Given the description of an element on the screen output the (x, y) to click on. 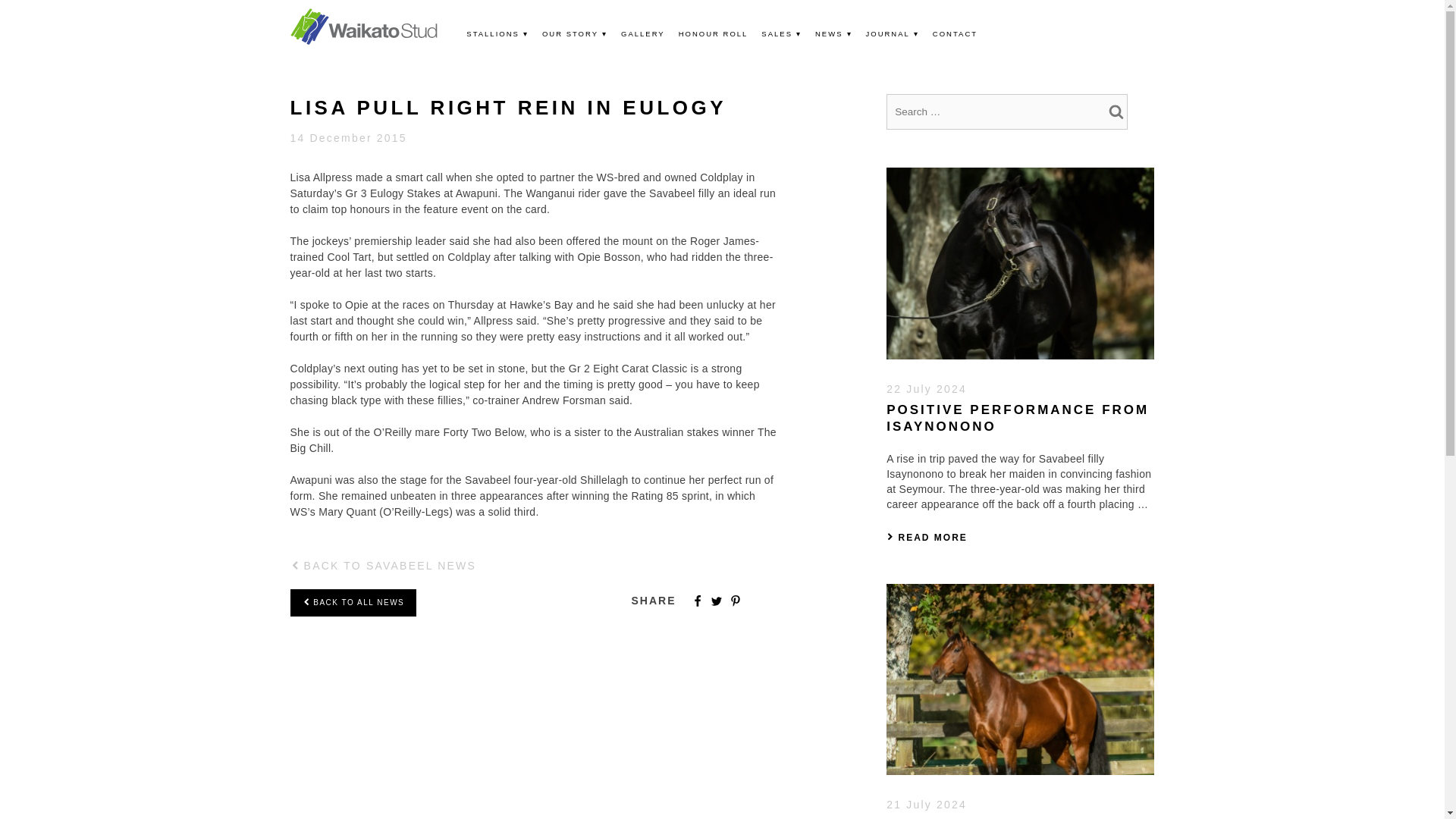
STALLIONS (496, 33)
